Given the description of an element on the screen output the (x, y) to click on. 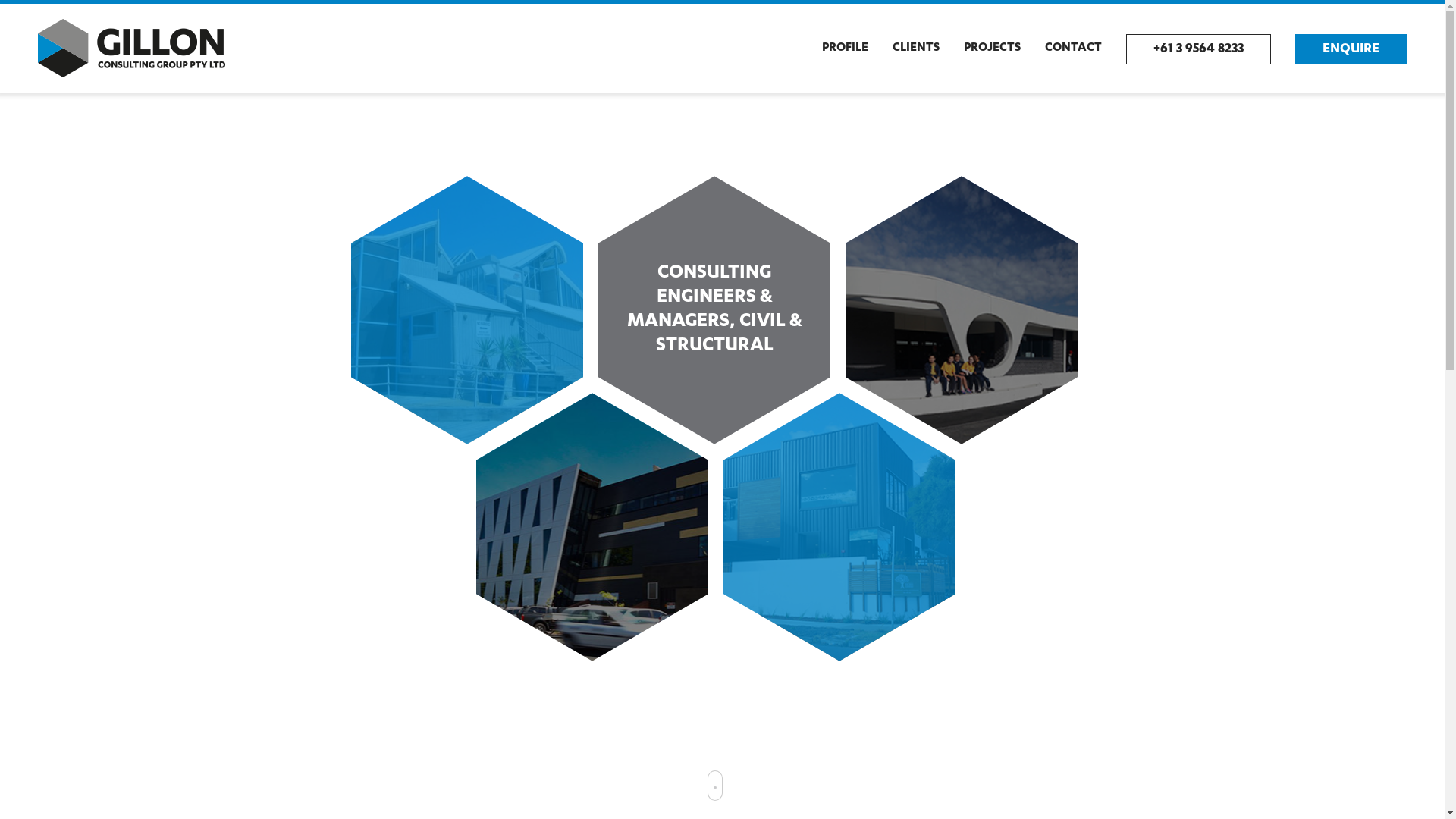
CONTACT Element type: text (1072, 48)
PROJECTS Element type: text (991, 48)
+61 3 9564 8233 Element type: text (1198, 49)
PROFILE Element type: text (845, 48)
Gillon Consulting Group Element type: hover (131, 47)
CLIENTS Element type: text (915, 48)
ENQUIRE Element type: text (1350, 49)
